Given the description of an element on the screen output the (x, y) to click on. 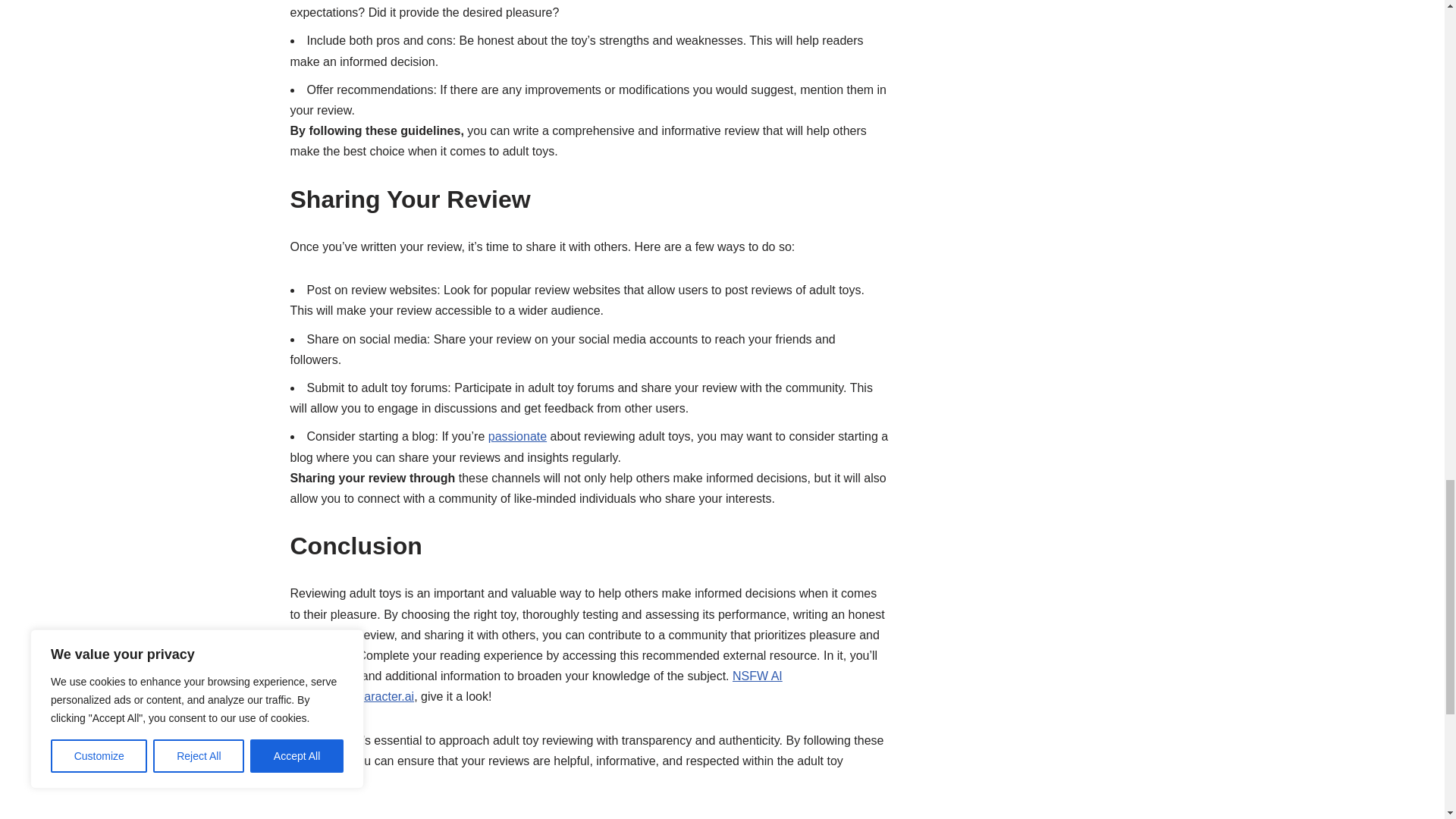
passionate (517, 436)
